Given the description of an element on the screen output the (x, y) to click on. 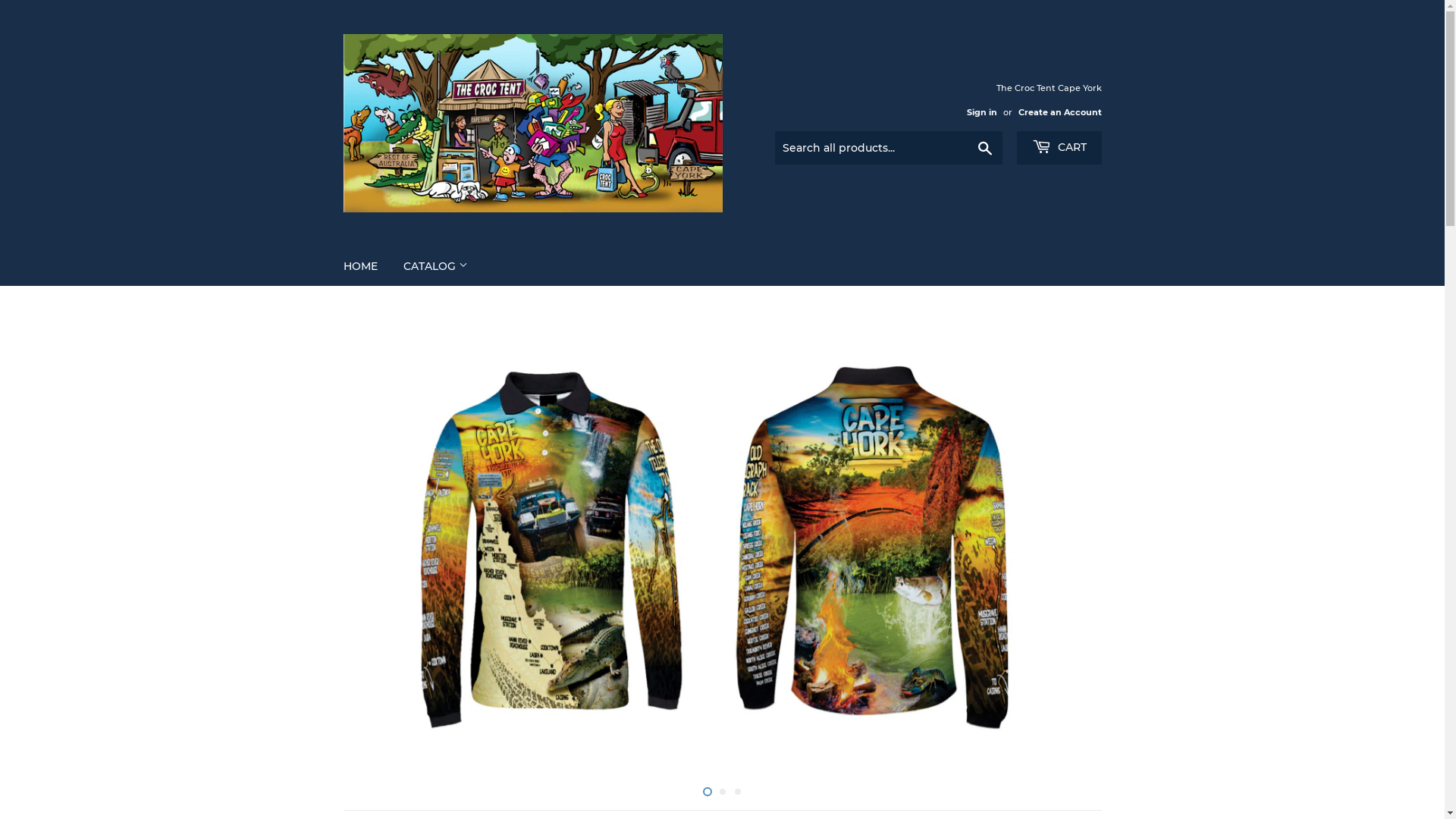
3 Element type: text (736, 791)
CATALOG Element type: text (434, 265)
2 Element type: text (721, 791)
Create an Account Element type: text (1059, 111)
HOME Element type: text (360, 265)
1 Element type: text (706, 791)
Sign in Element type: text (981, 111)
CART Element type: text (1058, 147)
Search Element type: text (984, 148)
